Given the description of an element on the screen output the (x, y) to click on. 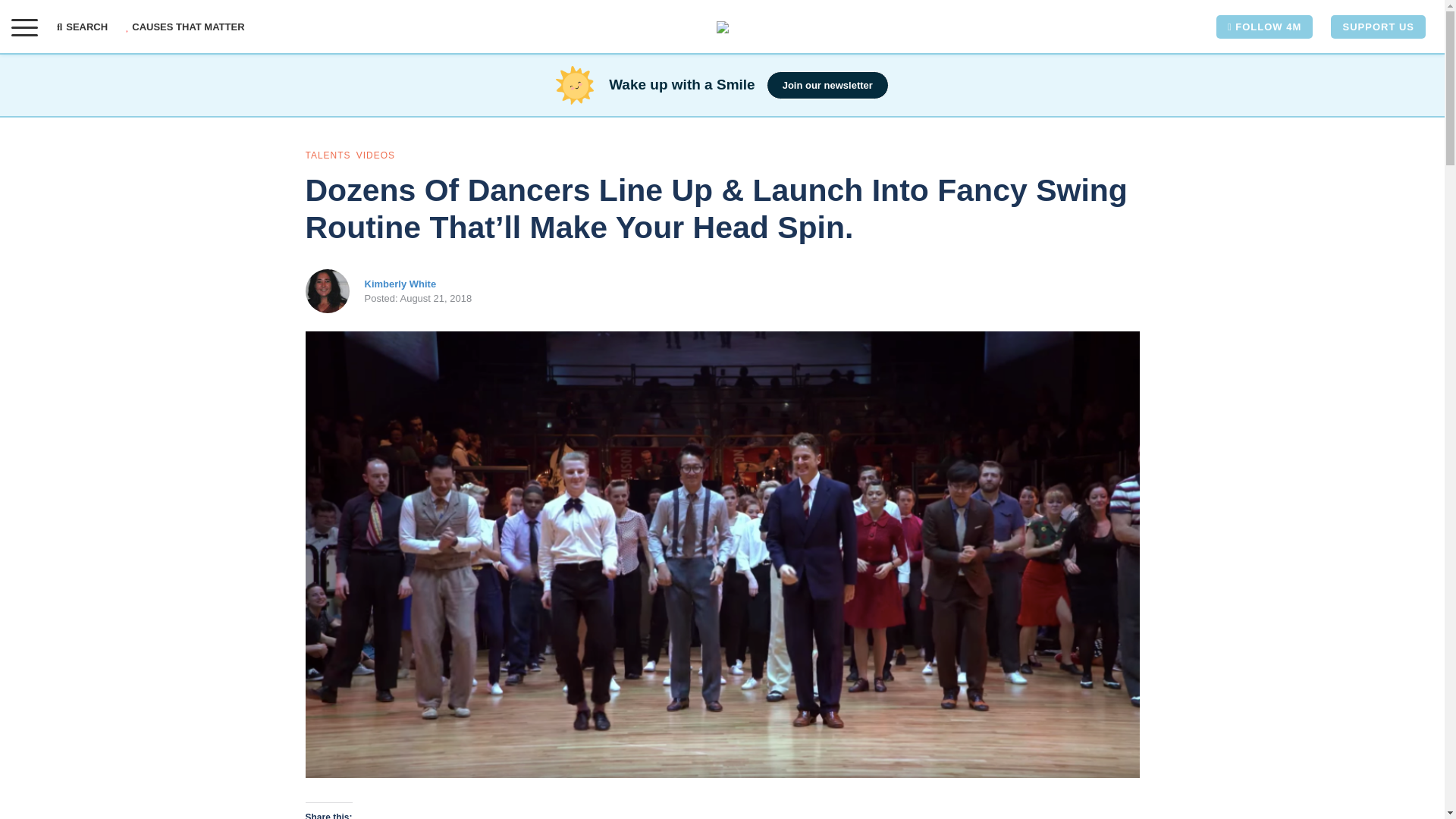
SUPPORT US (1377, 26)
Join our newsletter (827, 85)
Kimberly White (399, 283)
CAUSES THAT MATTER (184, 26)
FOLLOW 4M (1264, 26)
TALENTS (327, 154)
VIDEOS (375, 154)
SEARCH (86, 26)
